Given the description of an element on the screen output the (x, y) to click on. 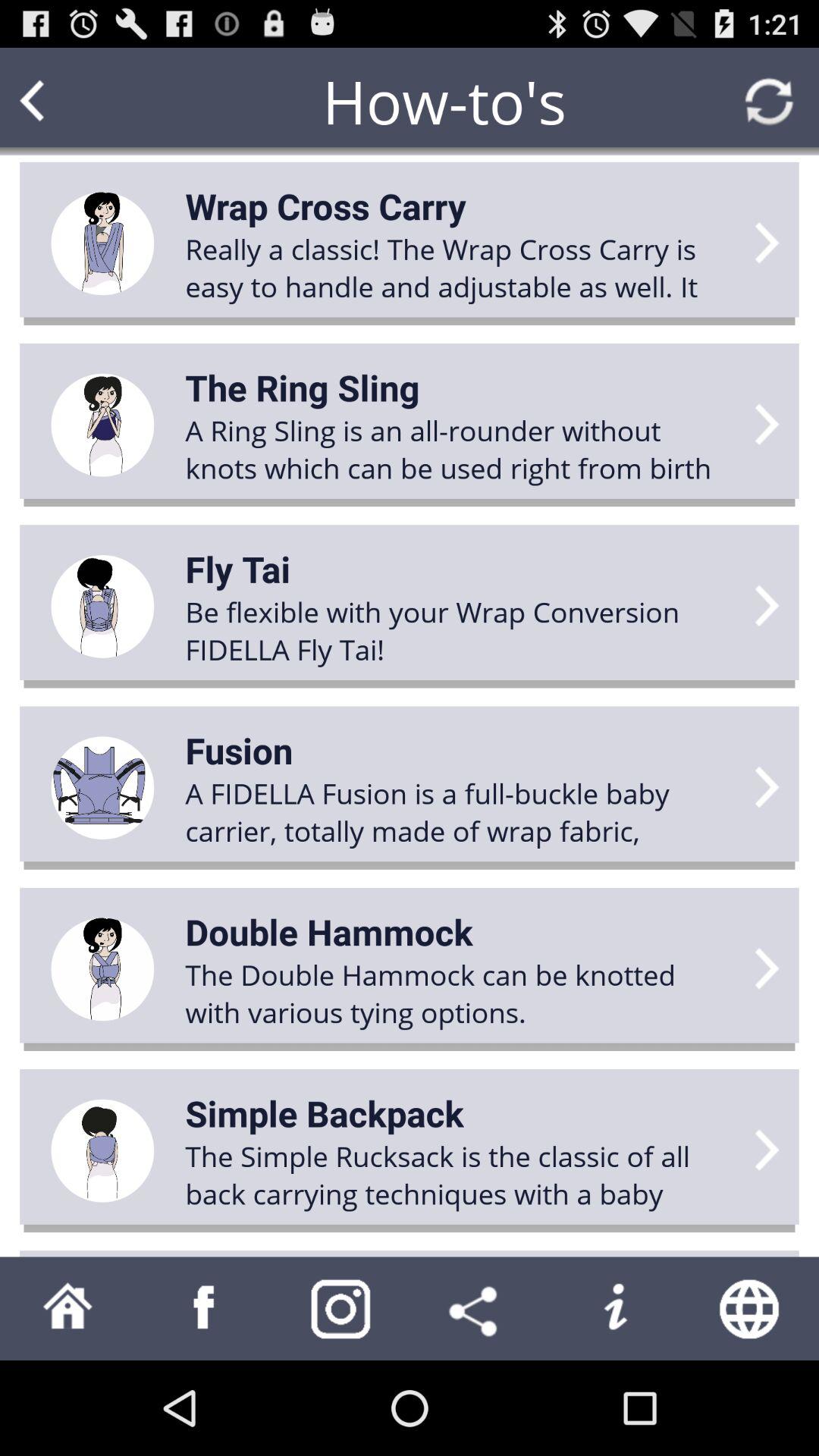
launch the app below the simple rucksack icon (750, 1308)
